Given the description of an element on the screen output the (x, y) to click on. 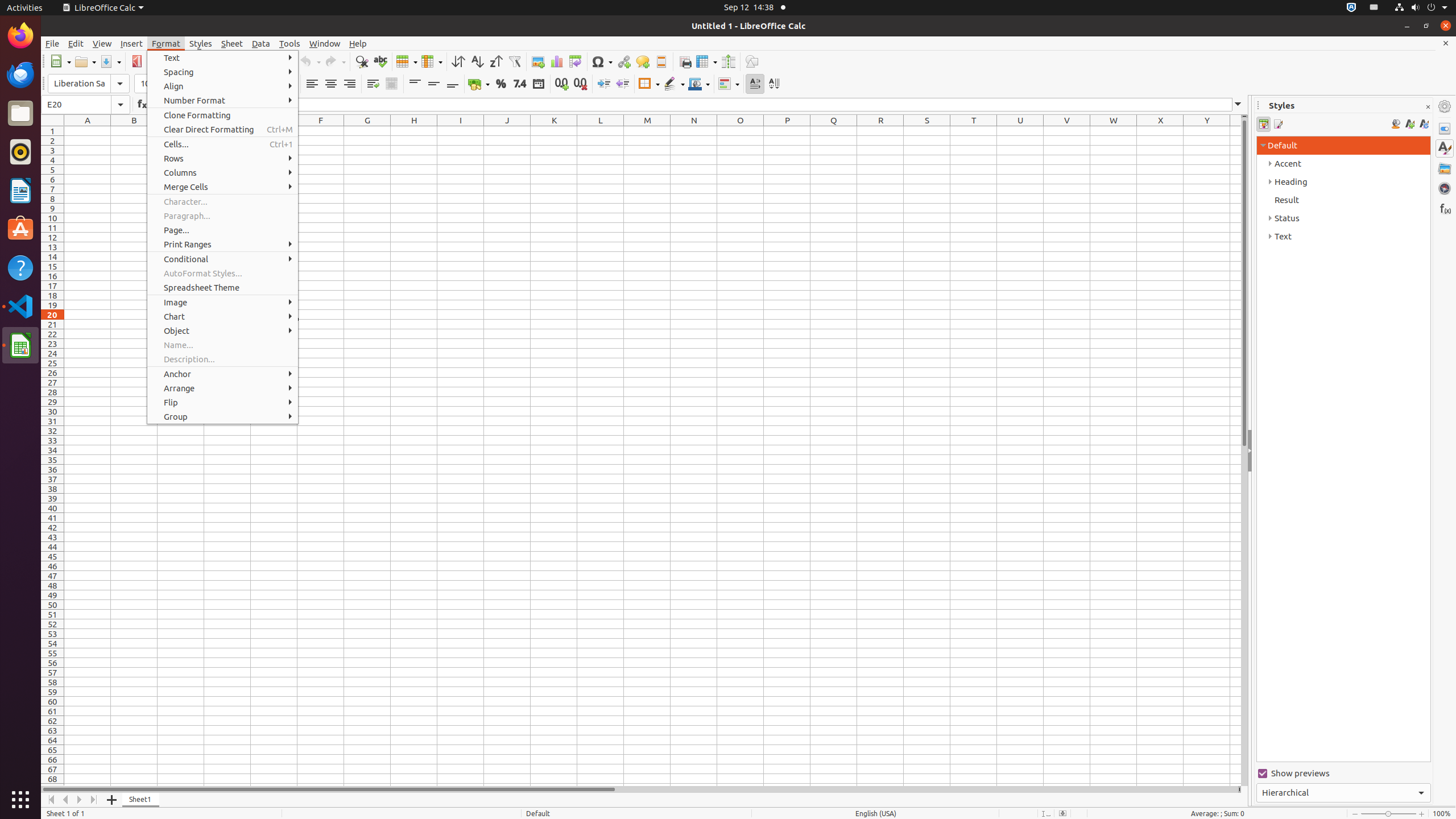
Spelling Element type: push-button (379, 61)
Sheet Element type: menu (231, 43)
S1 Element type: table-cell (926, 130)
